Given the description of an element on the screen output the (x, y) to click on. 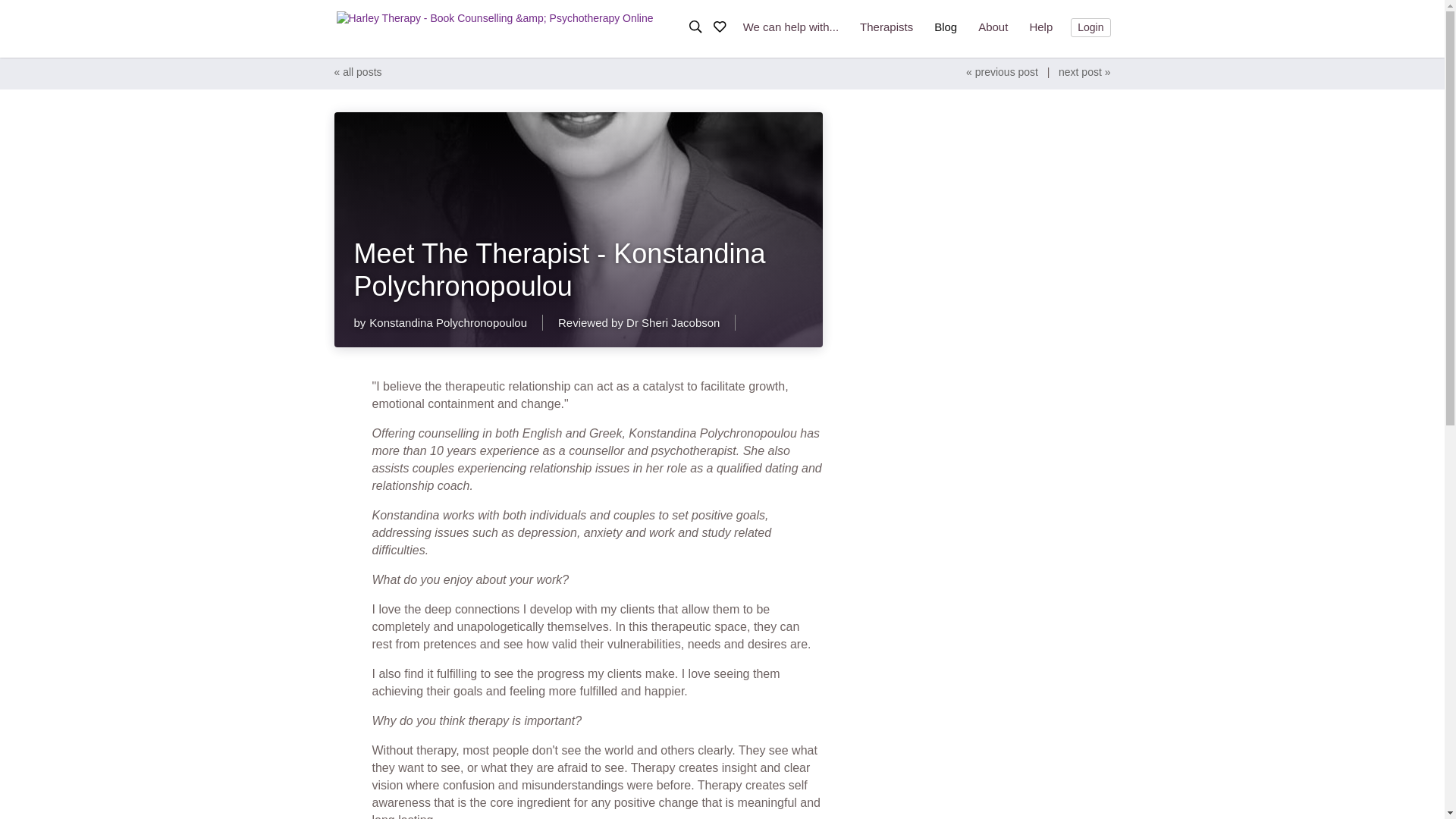
Blog (945, 28)
Therapists (886, 25)
About (992, 25)
Login (1089, 27)
We can help with... (790, 25)
Reviewed by Dr Sheri Jacobson (646, 322)
Help (1041, 25)
